Given the description of an element on the screen output the (x, y) to click on. 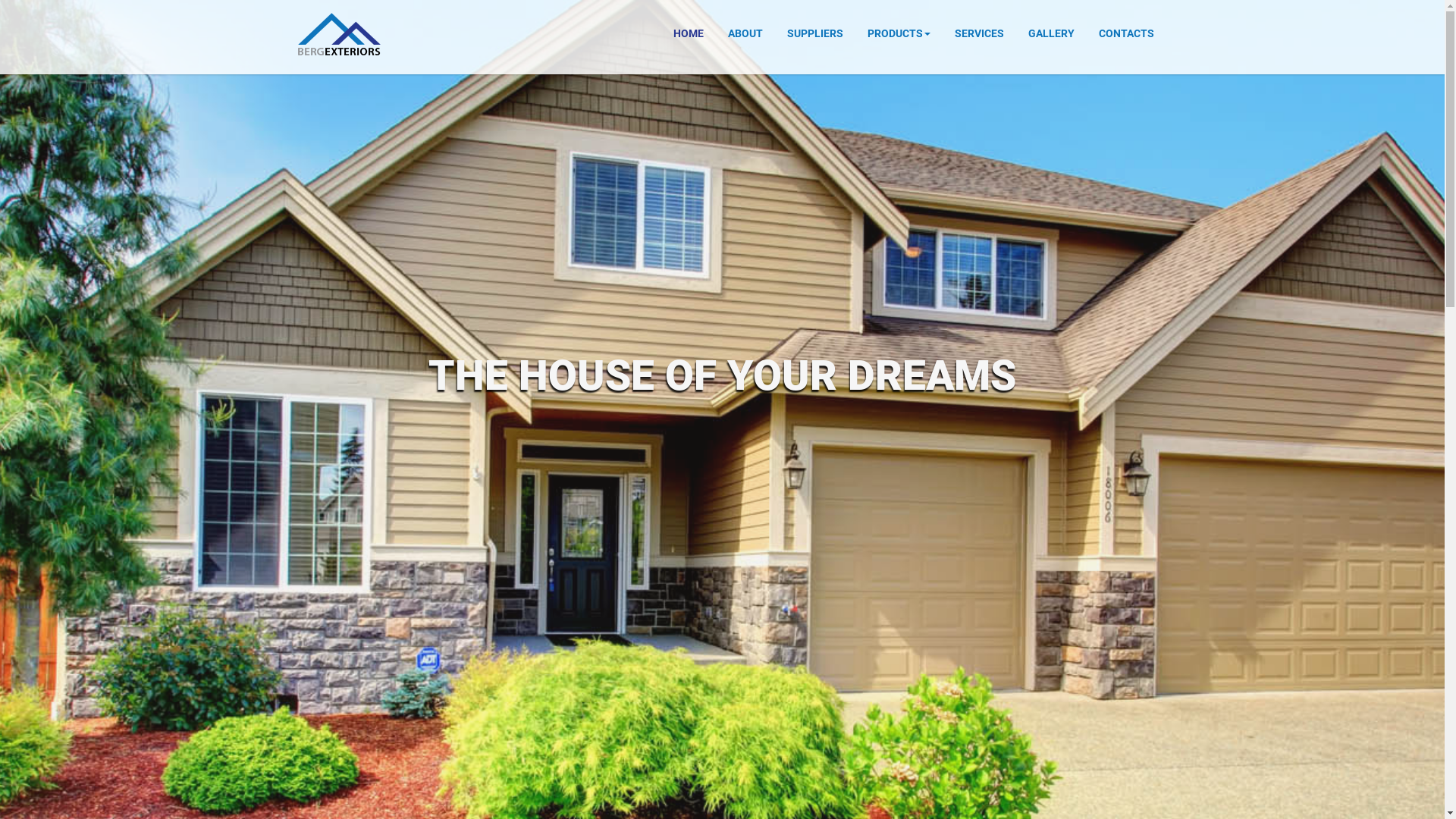
CONTACTS Element type: text (1126, 33)
HOME Element type: text (687, 33)
SERVICES Element type: text (979, 33)
PRODUCTS Element type: text (898, 33)
SUPPLIERS Element type: text (814, 33)
GALLERY Element type: text (1050, 33)
ABOUT Element type: text (744, 33)
